Given the description of an element on the screen output the (x, y) to click on. 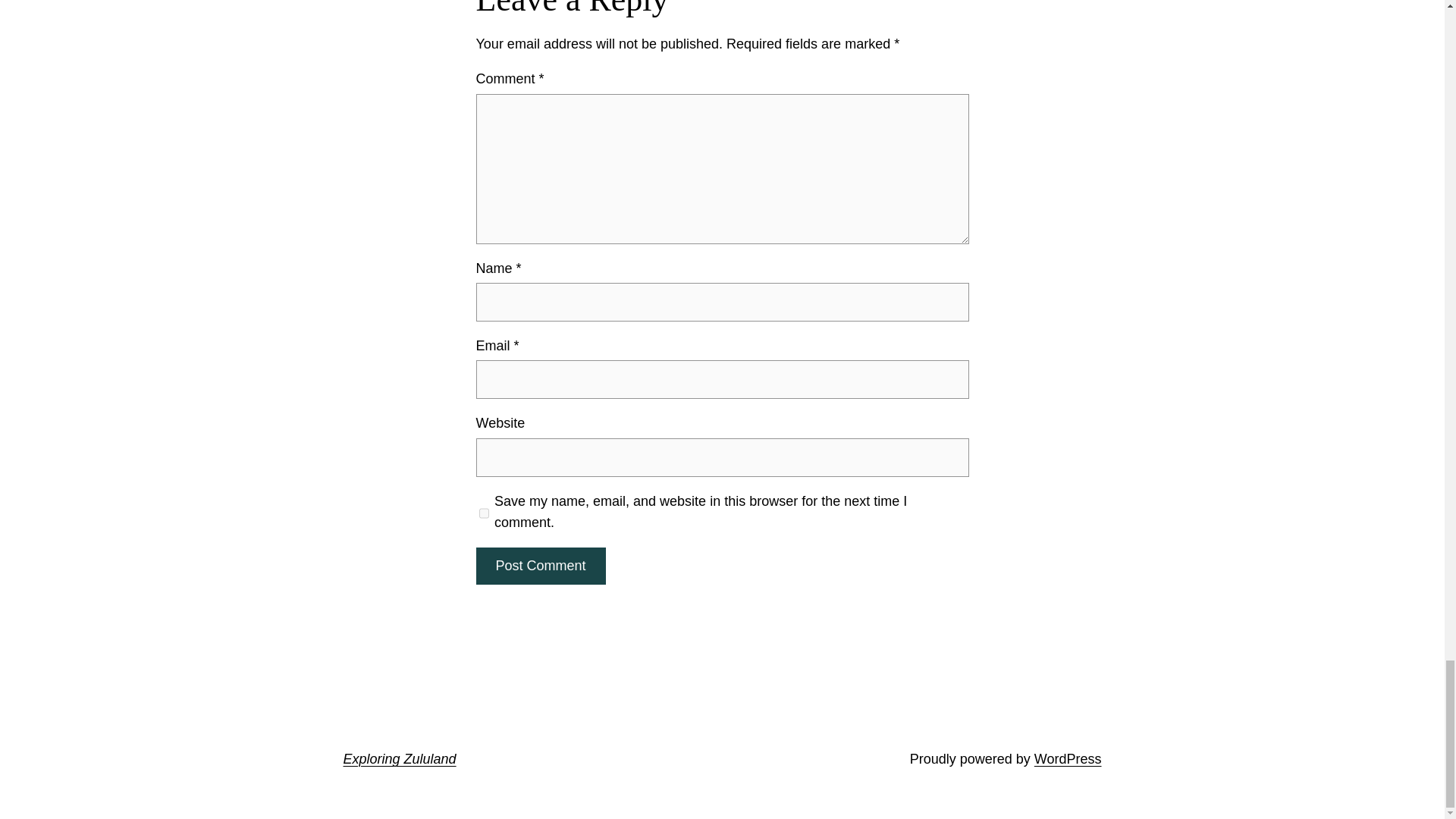
Exploring Zululand (398, 758)
Post Comment (540, 565)
Post Comment (540, 565)
WordPress (1067, 758)
